Given the description of an element on the screen output the (x, y) to click on. 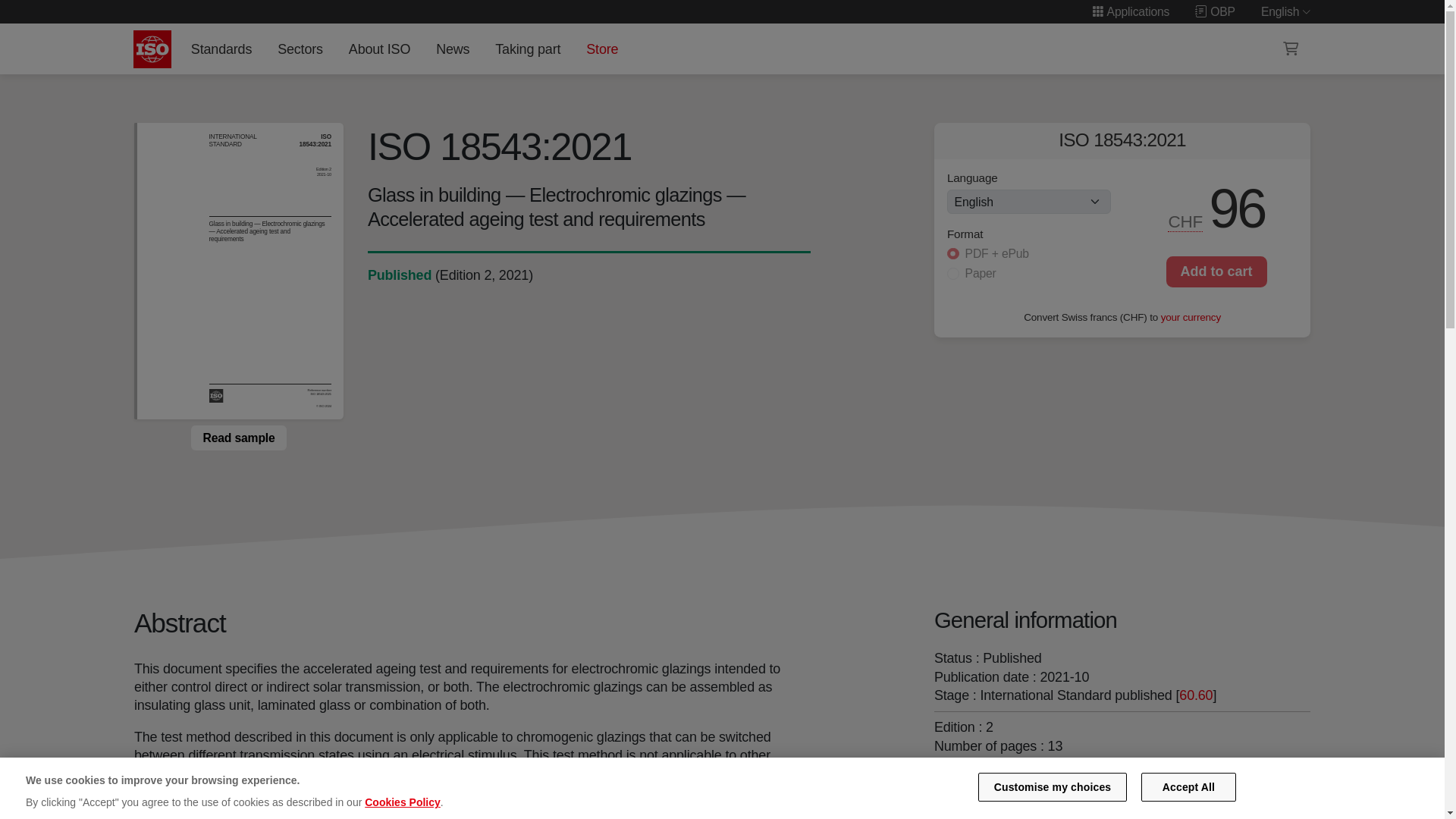
Taking part (528, 48)
Shopping cart (1290, 49)
ISO's applications portal (1130, 11)
Swiss francs (1186, 221)
Standards (220, 48)
Life cycle (398, 274)
60.60 (1195, 694)
 Applications (1130, 11)
